Given the description of an element on the screen output the (x, y) to click on. 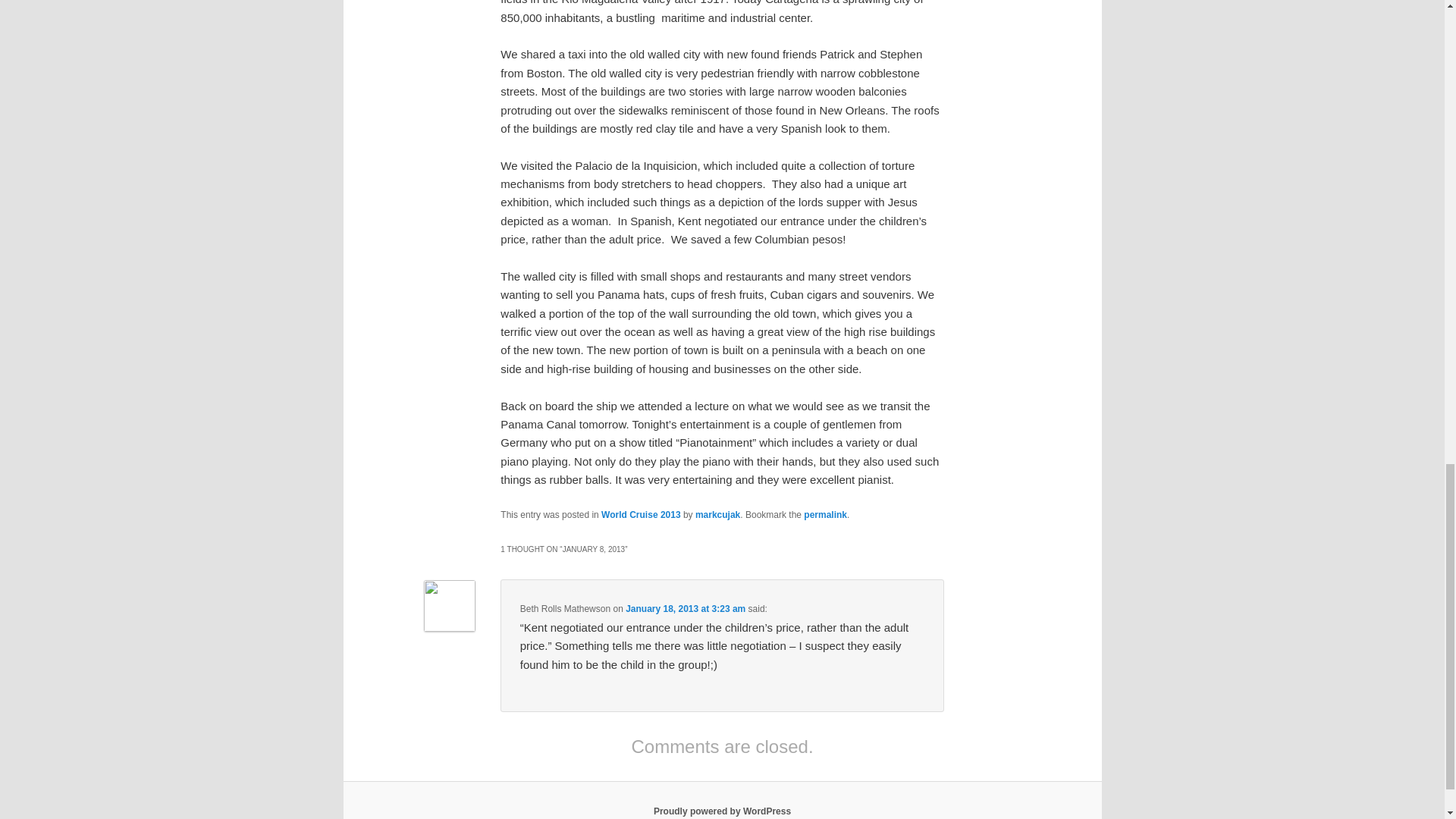
Semantic Personal Publishing Platform (721, 810)
World Cruise 2013 (640, 514)
Permalink to January 8, 2013 (825, 514)
markcujak (717, 514)
permalink (825, 514)
Proudly powered by WordPress (721, 810)
January 18, 2013 at 3:23 am (685, 608)
